Given the description of an element on the screen output the (x, y) to click on. 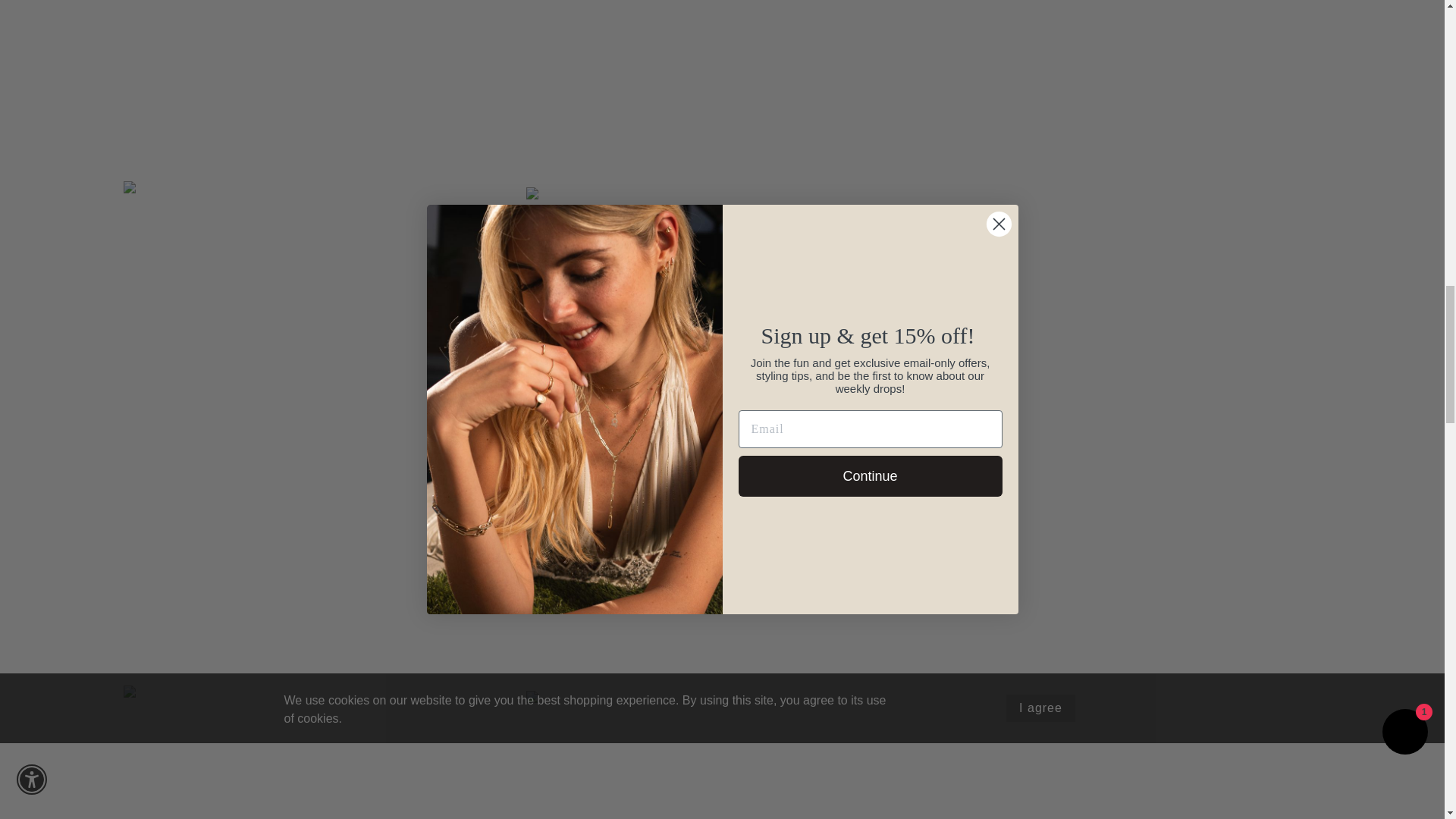
14k Gold Initial Bracelet (721, 85)
14k Gold Initial Bracelet (317, 83)
14k Gold Initial Bracelet (317, 752)
